Given the description of an element on the screen output the (x, y) to click on. 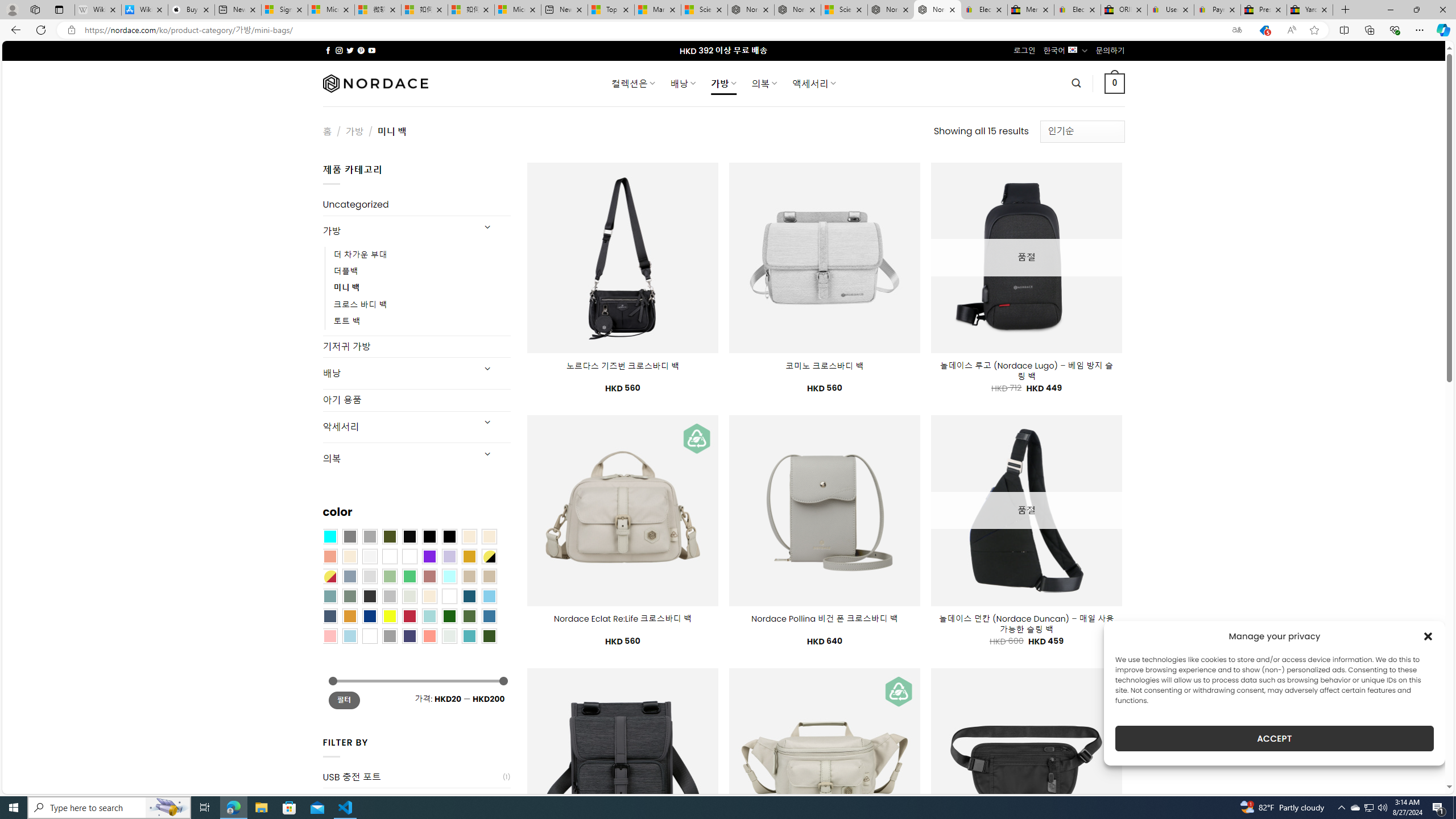
User Privacy Notice | eBay (1170, 9)
Nordace - Summer Adventures 2024 (890, 9)
Uncategorized (416, 204)
